Given the description of an element on the screen output the (x, y) to click on. 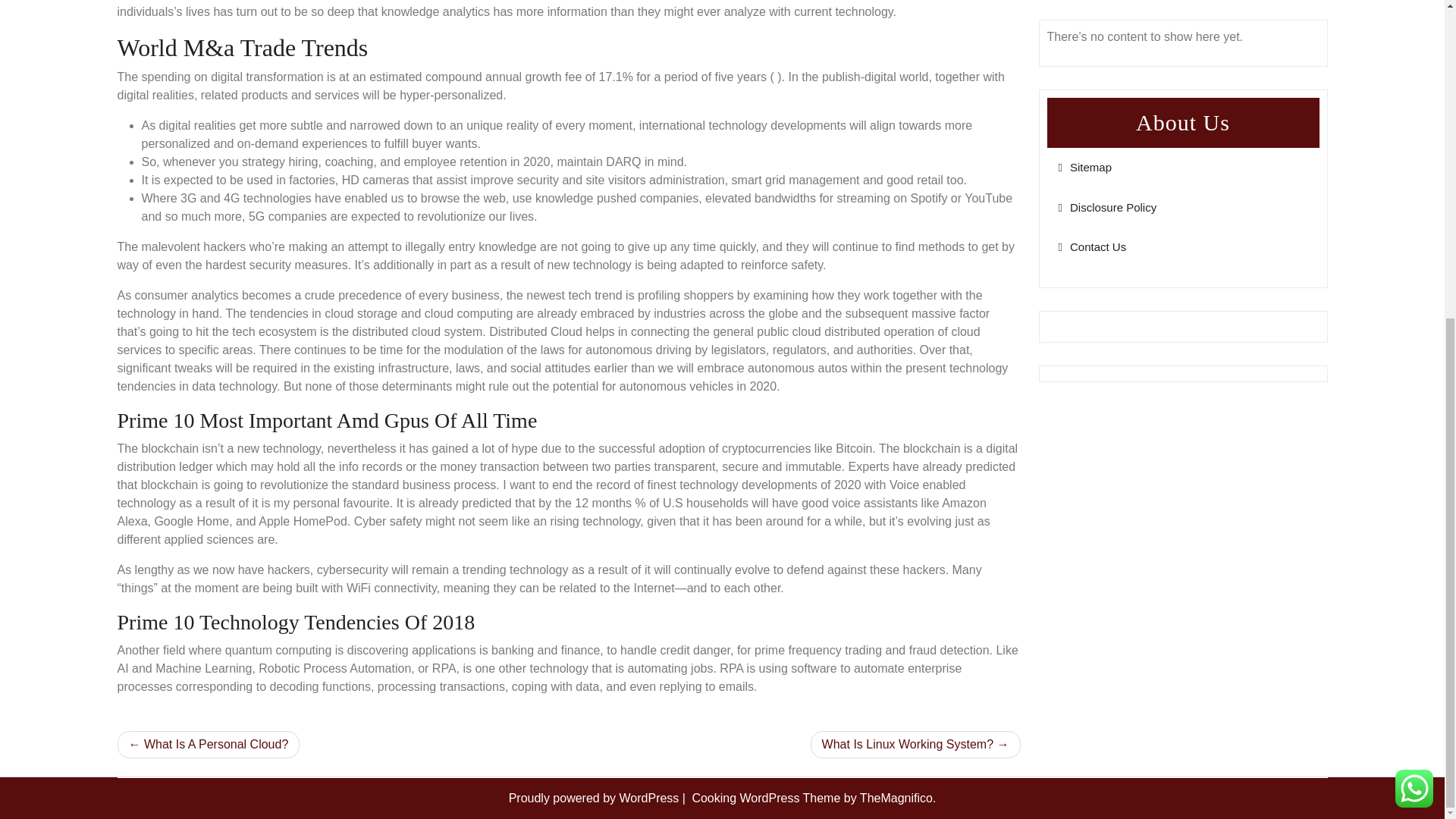
Sitemap (1085, 166)
What Is Linux Working System? (915, 744)
What Is A Personal Cloud? (207, 744)
Contact Us (1092, 246)
Proudly powered by WordPress (595, 797)
Disclosure Policy (1107, 206)
Cooking WordPress Theme (767, 797)
